Given the description of an element on the screen output the (x, y) to click on. 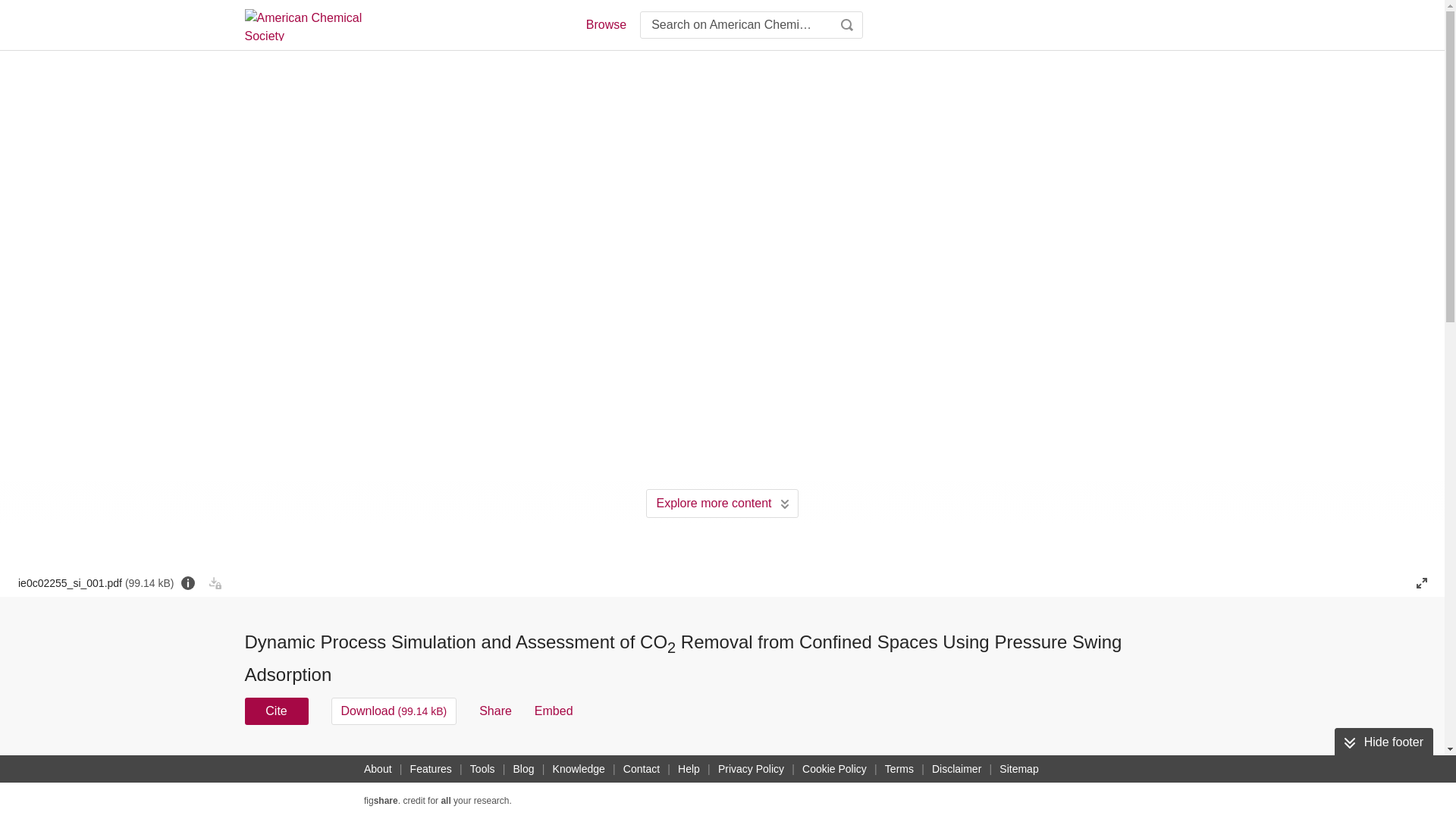
Embed (553, 710)
USAGE METRICS (976, 765)
Share (495, 710)
Browse (605, 24)
Cite (275, 710)
Explore more content (721, 502)
